Given the description of an element on the screen output the (x, y) to click on. 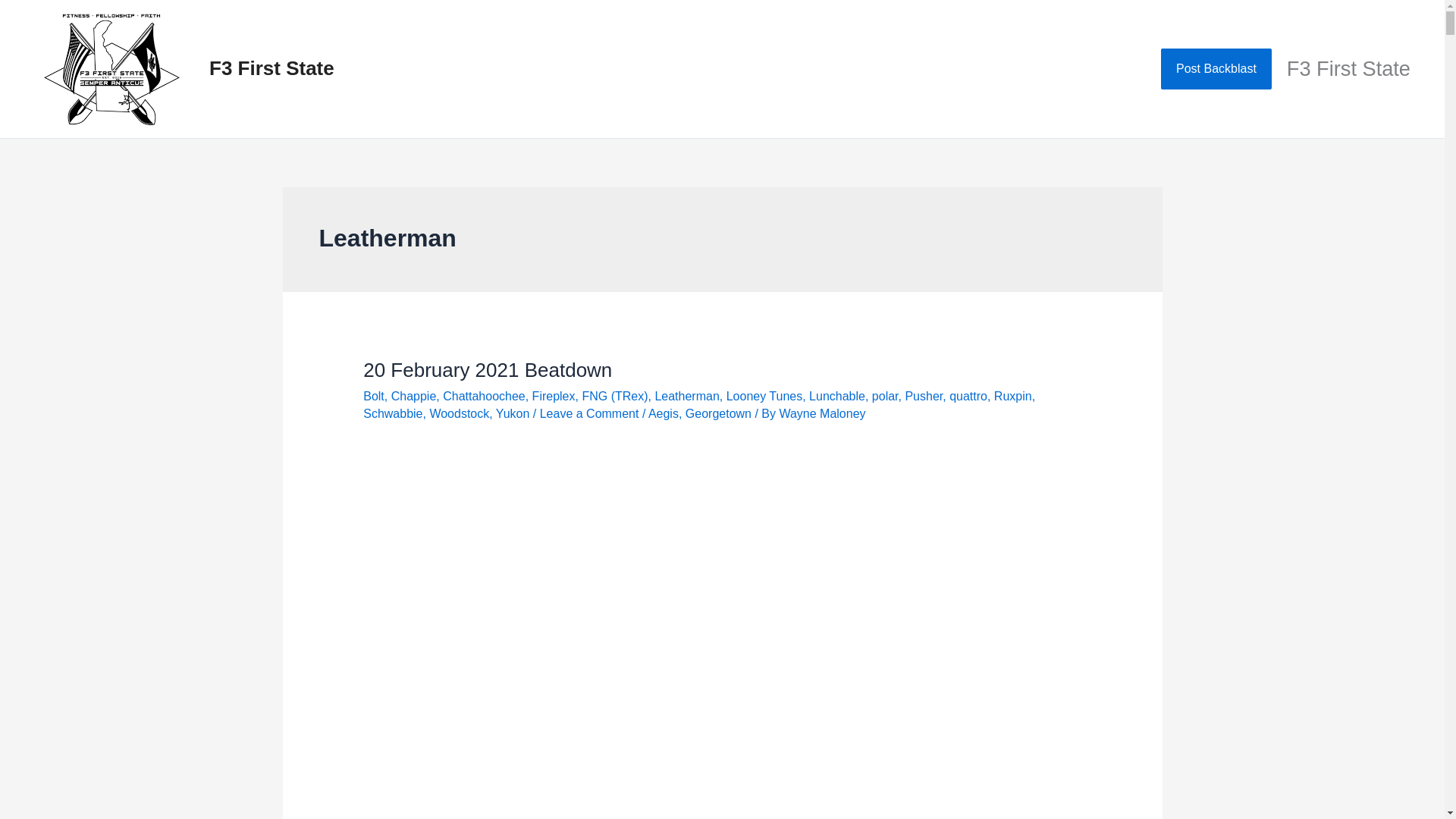
Leave a Comment (589, 413)
Georgetown (718, 413)
Leatherman (686, 395)
Fireplex (553, 395)
F3 First State (271, 67)
20 February 2021 Beatdown (486, 369)
View all posts by Wayne Maloney (821, 413)
quattro (968, 395)
Chattahoochee (483, 395)
Lunchable (836, 395)
Aegis (662, 413)
Wayne Maloney (821, 413)
Ruxpin (1013, 395)
Chappie (413, 395)
